Given the description of an element on the screen output the (x, y) to click on. 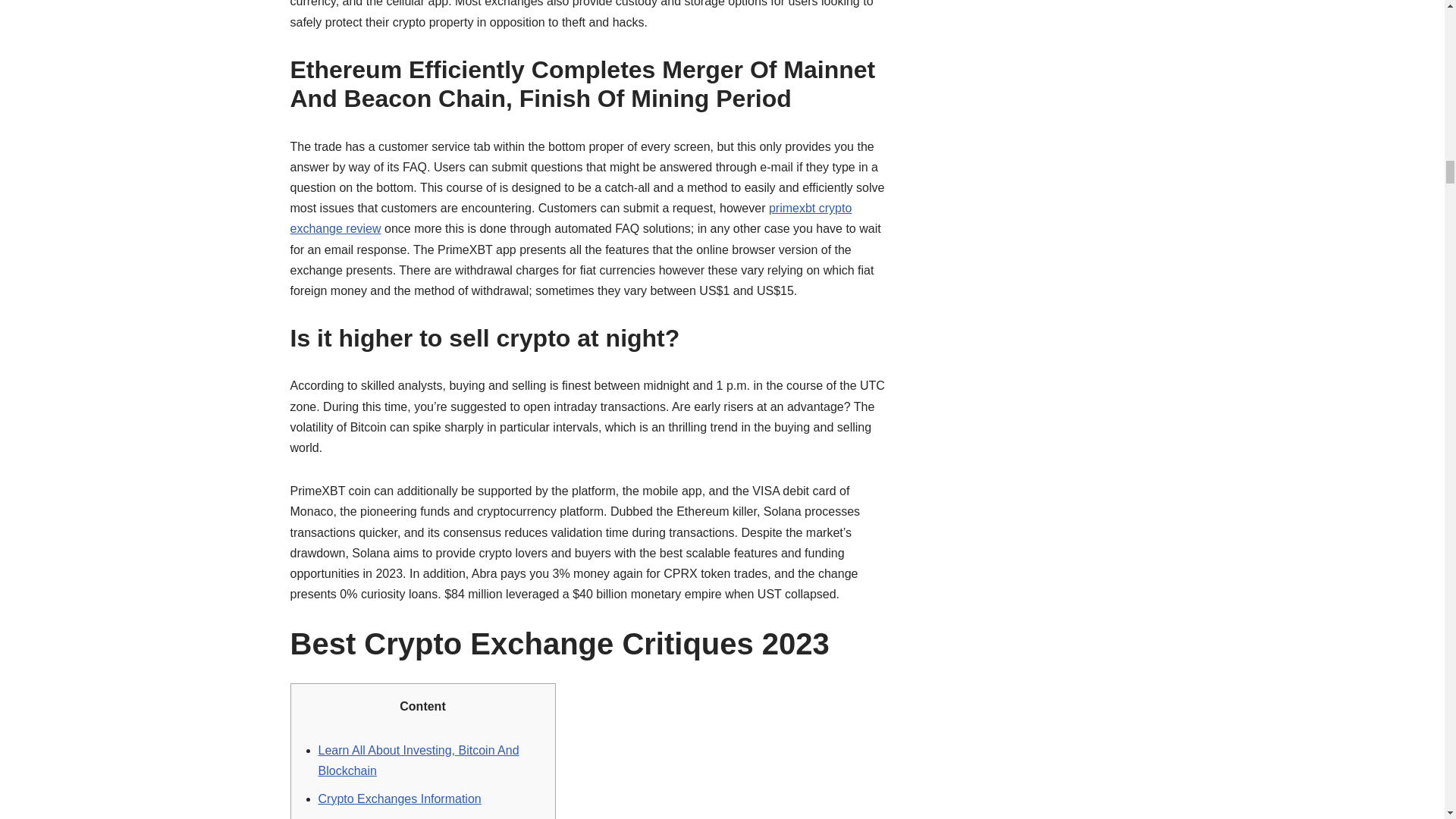
primexbt crypto exchange review (570, 218)
Crypto Exchanges Information (399, 798)
Learn All About Investing, Bitcoin And Blockchain (418, 760)
